Given the description of an element on the screen output the (x, y) to click on. 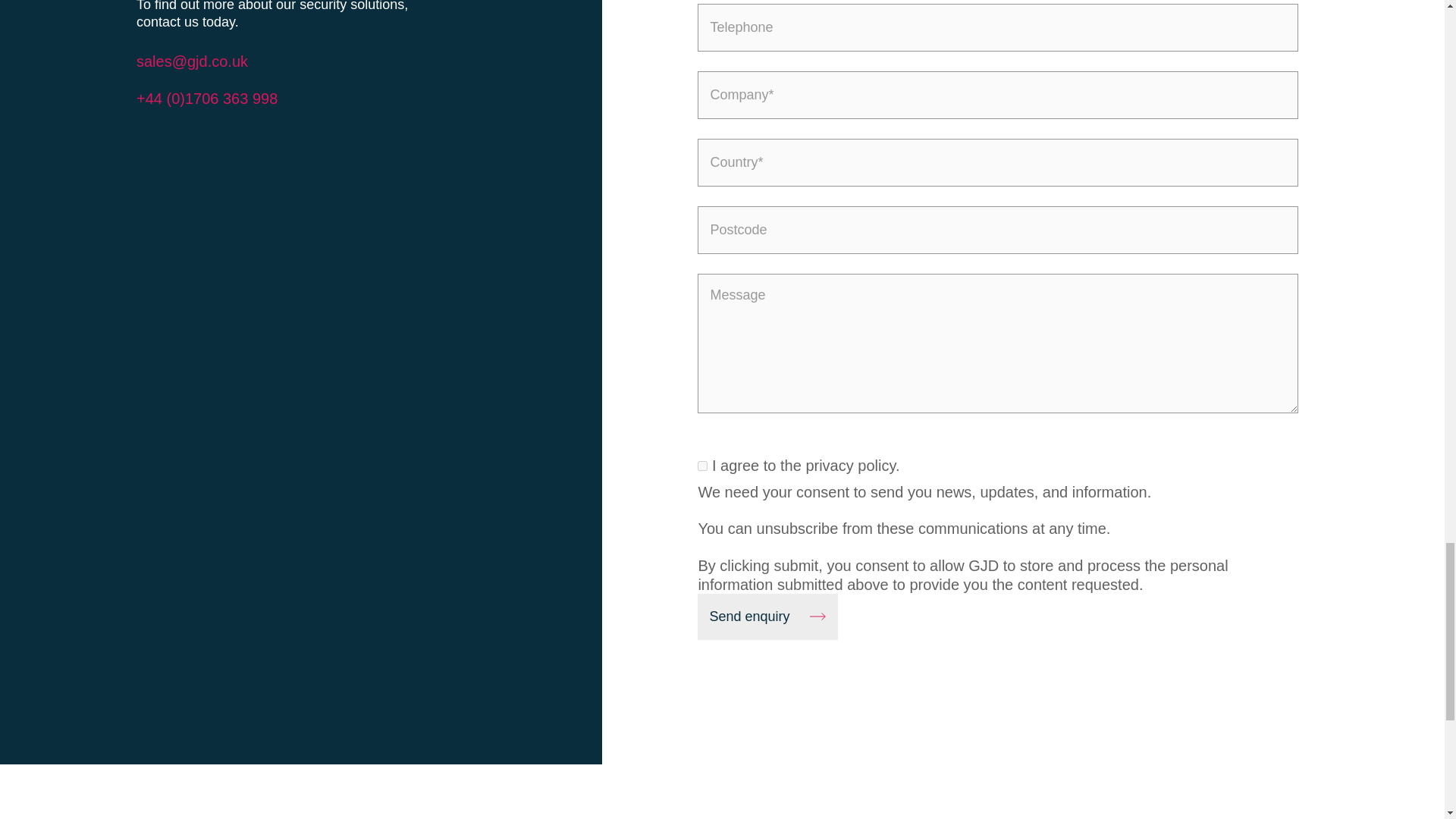
Send enquiry (767, 616)
1 (702, 465)
